Given the description of an element on the screen output the (x, y) to click on. 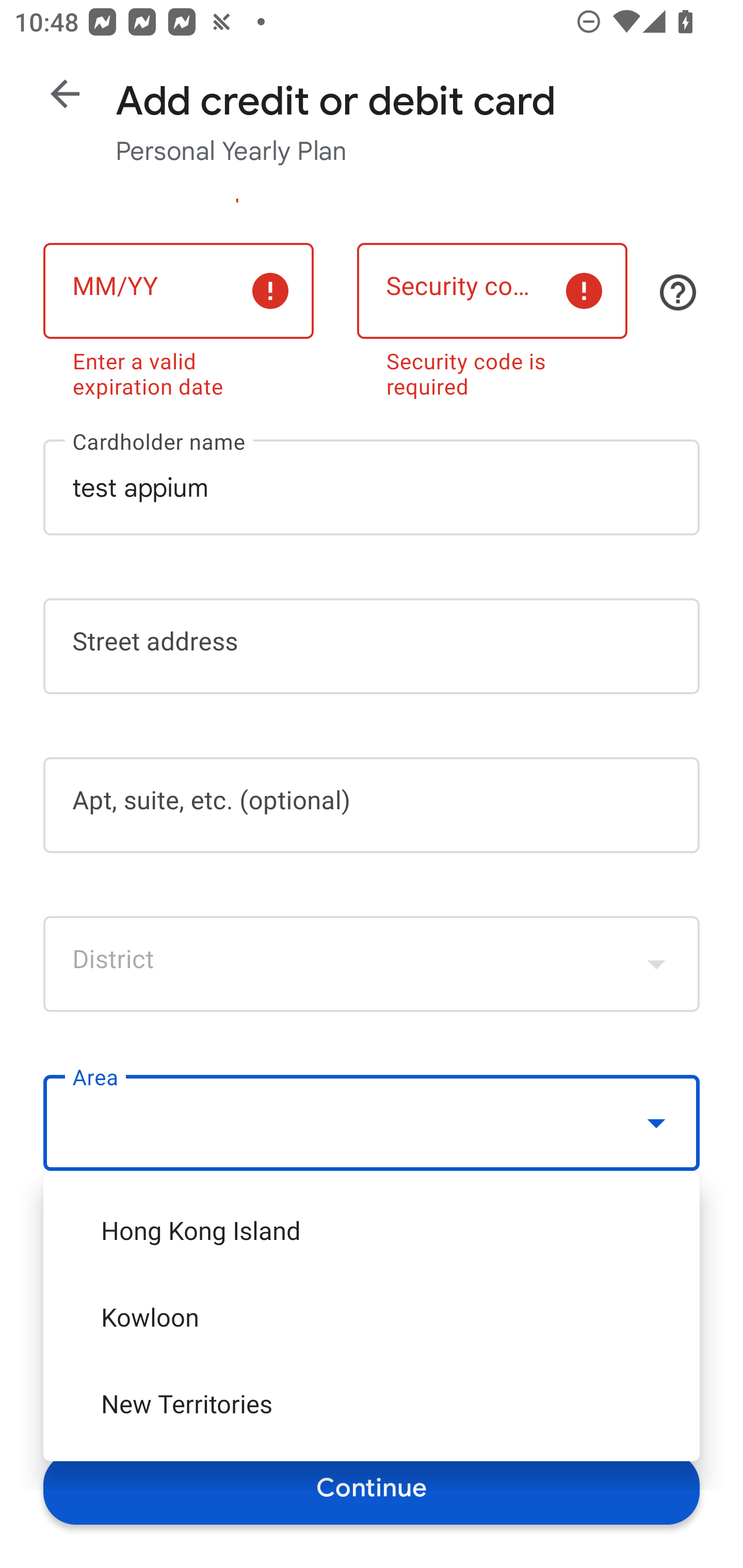
Back (64, 93)
Security code Error Security code is required (492, 317)
Expiration date, 2 digit month, 2 digit year (178, 290)
Security code (492, 290)
Security code help (677, 292)
test appium (371, 486)
Street address (371, 646)
Apt, suite, etc. (optional) (371, 804)
District (371, 963)
Show dropdown menu (655, 963)
Area (371, 1123)
Show dropdown menu (655, 1122)
Continue (371, 1487)
